Given the description of an element on the screen output the (x, y) to click on. 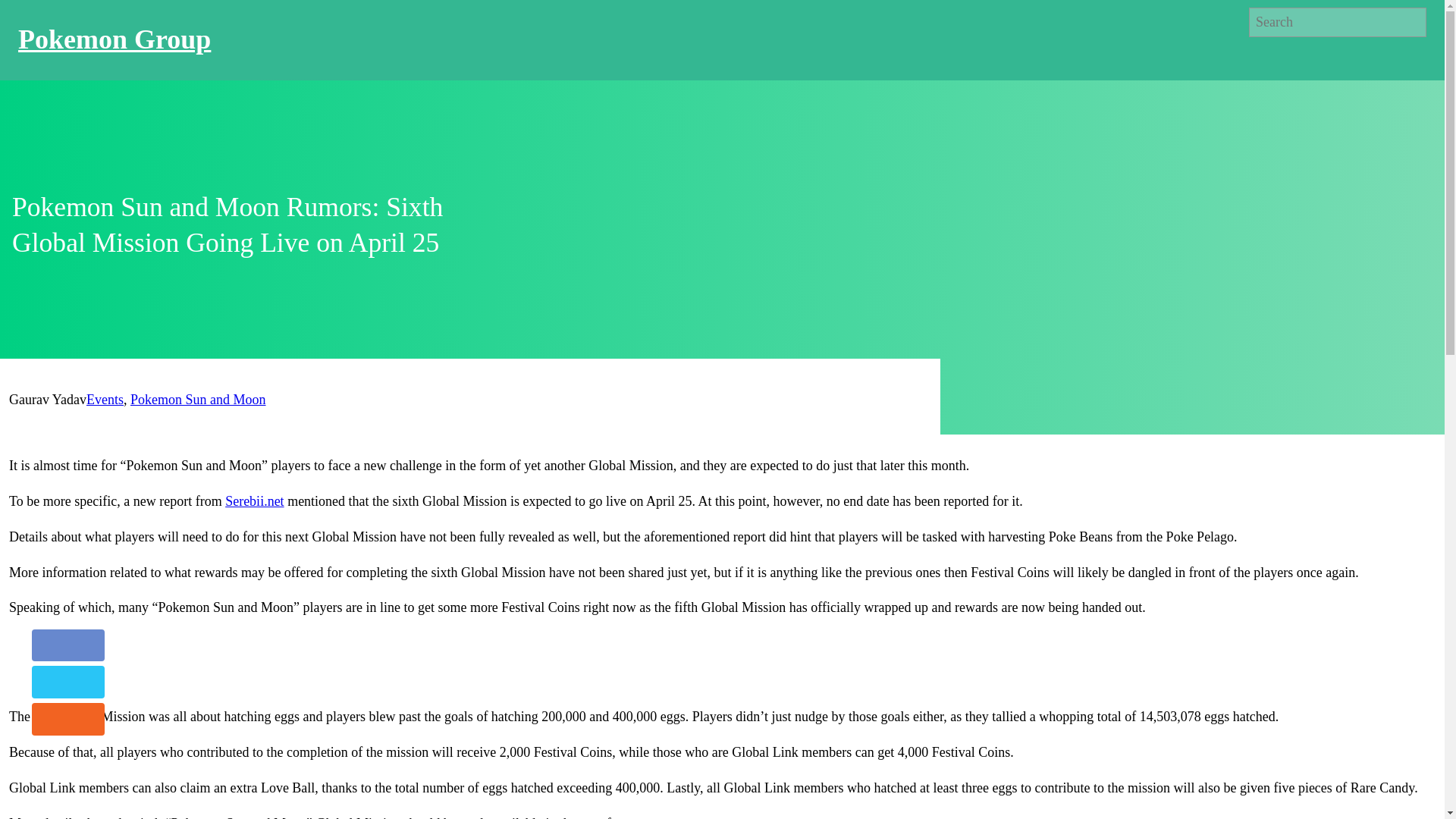
Serebii.net (254, 500)
Pokemon Group (114, 39)
Events (104, 399)
fifth (44, 716)
Pokemon Sun and Moon (198, 399)
